Given the description of an element on the screen output the (x, y) to click on. 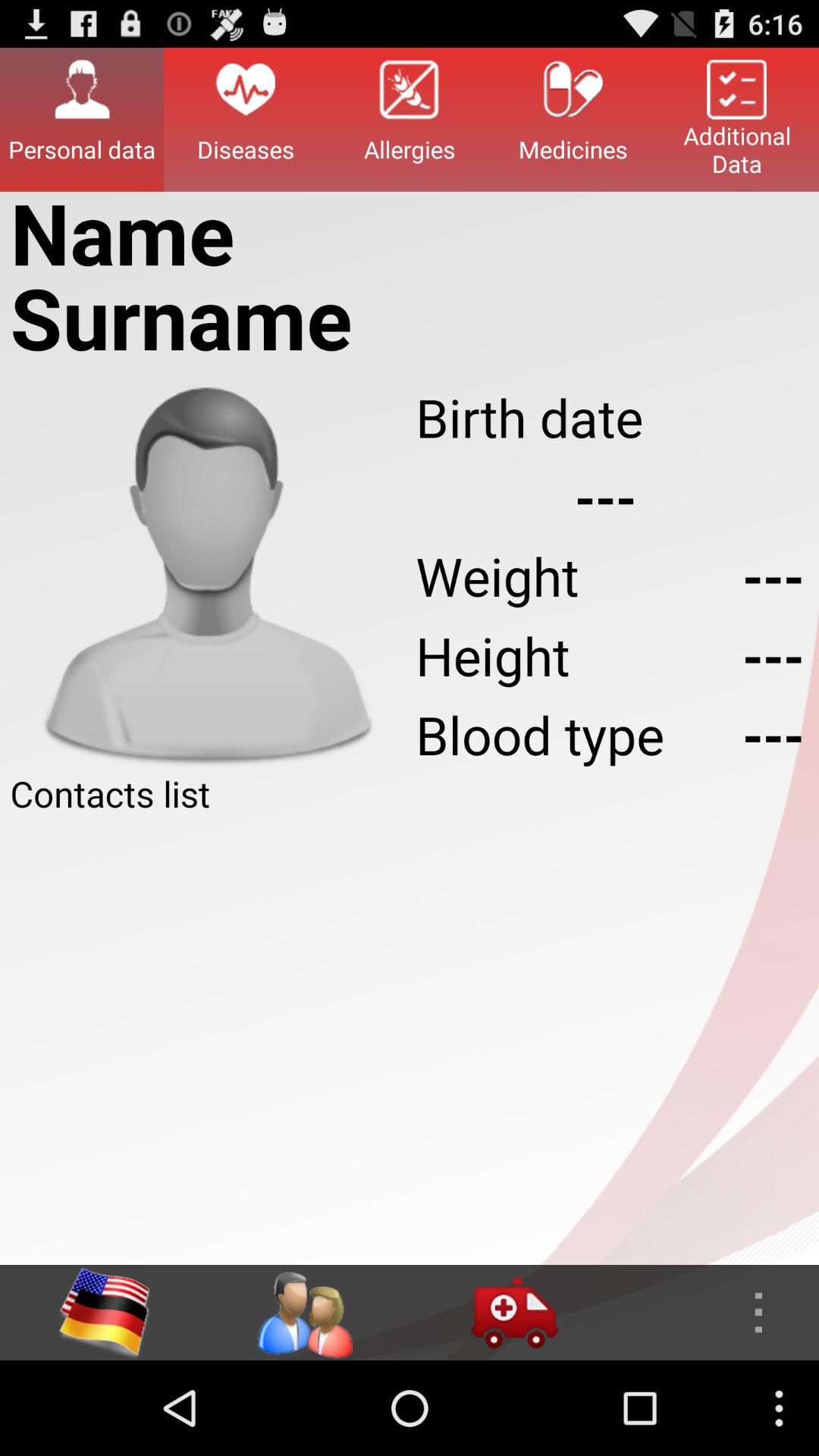
blood donate van (514, 1312)
